Given the description of an element on the screen output the (x, y) to click on. 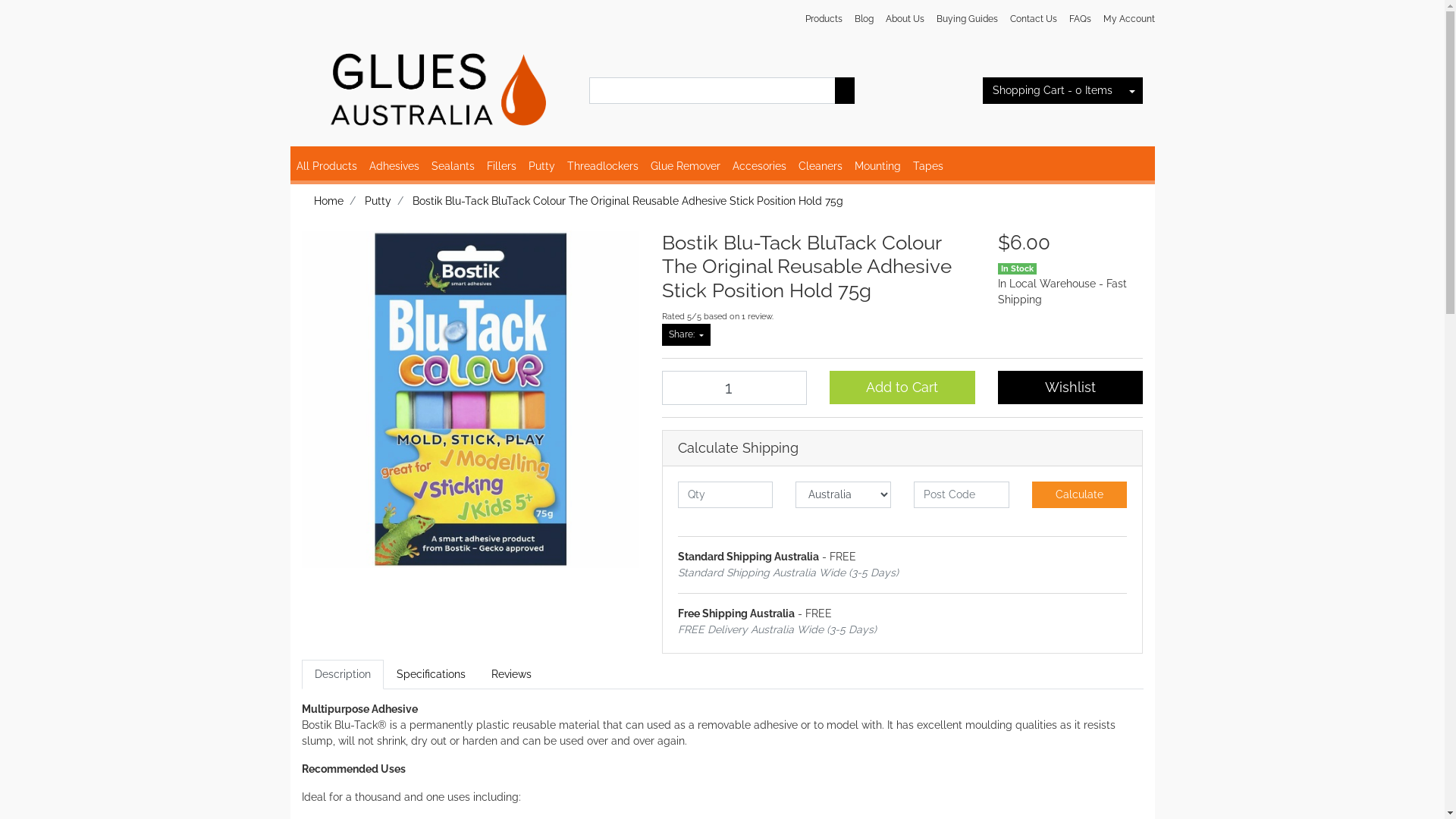
Fillers Element type: text (501, 166)
Accesories Element type: text (759, 166)
Adhesives Element type: text (393, 166)
Cleaners Element type: text (819, 166)
Share: Element type: text (685, 334)
Contact Us Element type: text (1033, 18)
Tapes Element type: text (927, 166)
Putty Element type: text (377, 200)
Shopping Cart - 0 Items Element type: text (1052, 90)
Threadlockers Element type: text (602, 166)
All Products Element type: text (325, 166)
Glue Remover Element type: text (685, 166)
Products Element type: text (823, 18)
Specifications Element type: text (430, 674)
Home Element type: text (328, 200)
Glues Australia Element type: hover (434, 83)
Add to Cart Element type: text (902, 387)
Toggle Dropdown Element type: text (1131, 90)
About Us Element type: text (904, 18)
My Account Element type: text (1125, 18)
Description Element type: text (342, 674)
Putty Element type: text (540, 166)
Search Element type: text (844, 90)
Reviews Element type: text (510, 674)
Sealants Element type: text (452, 166)
Skip to main content Element type: text (0, 0)
Buying Guides Element type: text (966, 18)
Blog Element type: text (862, 18)
FAQs Element type: text (1080, 18)
Calculate Element type: text (1079, 494)
Mounting Element type: text (876, 166)
Wishlist Element type: text (1070, 387)
